Given the description of an element on the screen output the (x, y) to click on. 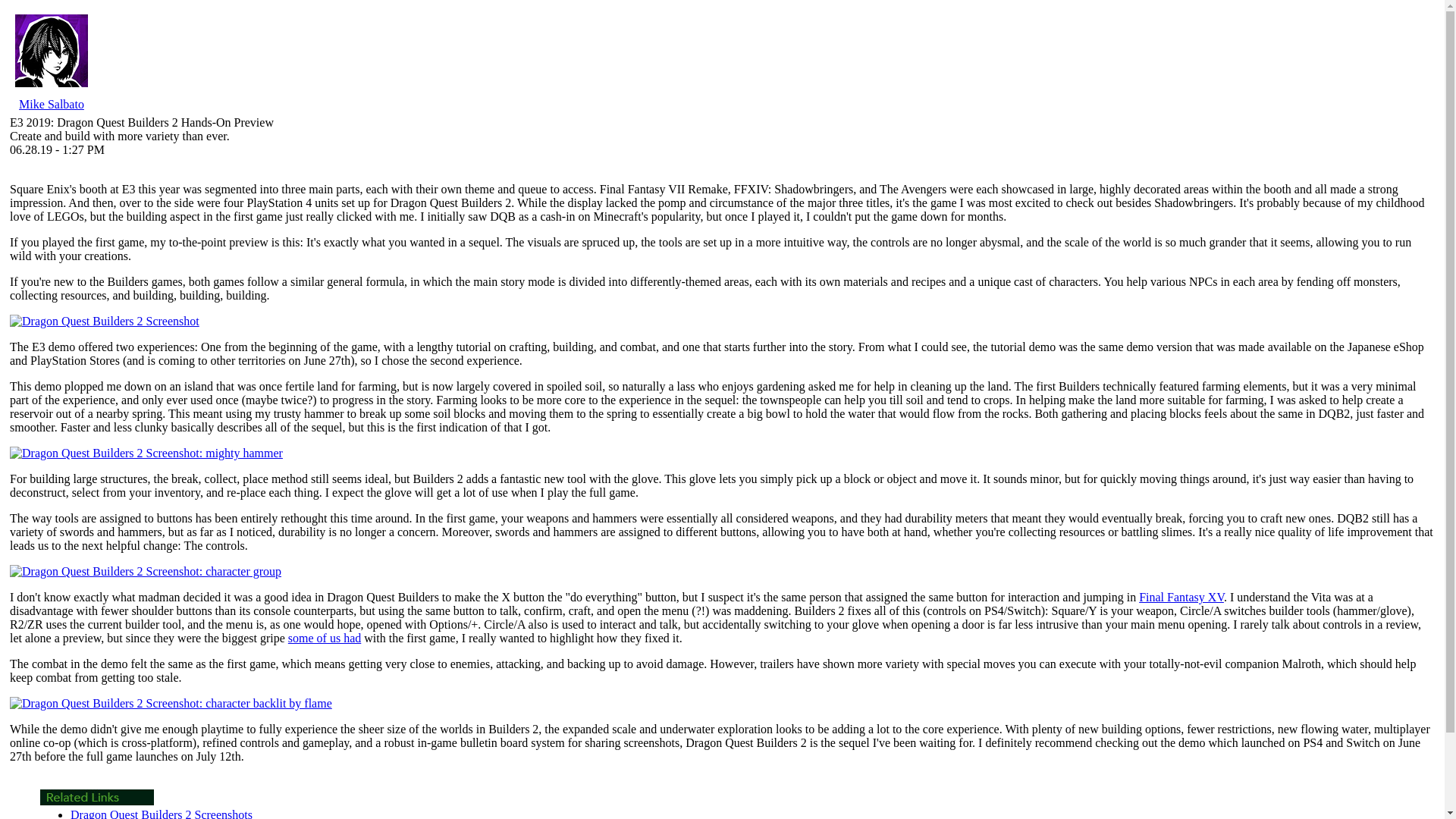
Final Fantasy XV (1181, 596)
Dragon Quest Builders 2 Screenshots (160, 813)
Mike Salbato (51, 103)
some of us had (324, 637)
